Given the description of an element on the screen output the (x, y) to click on. 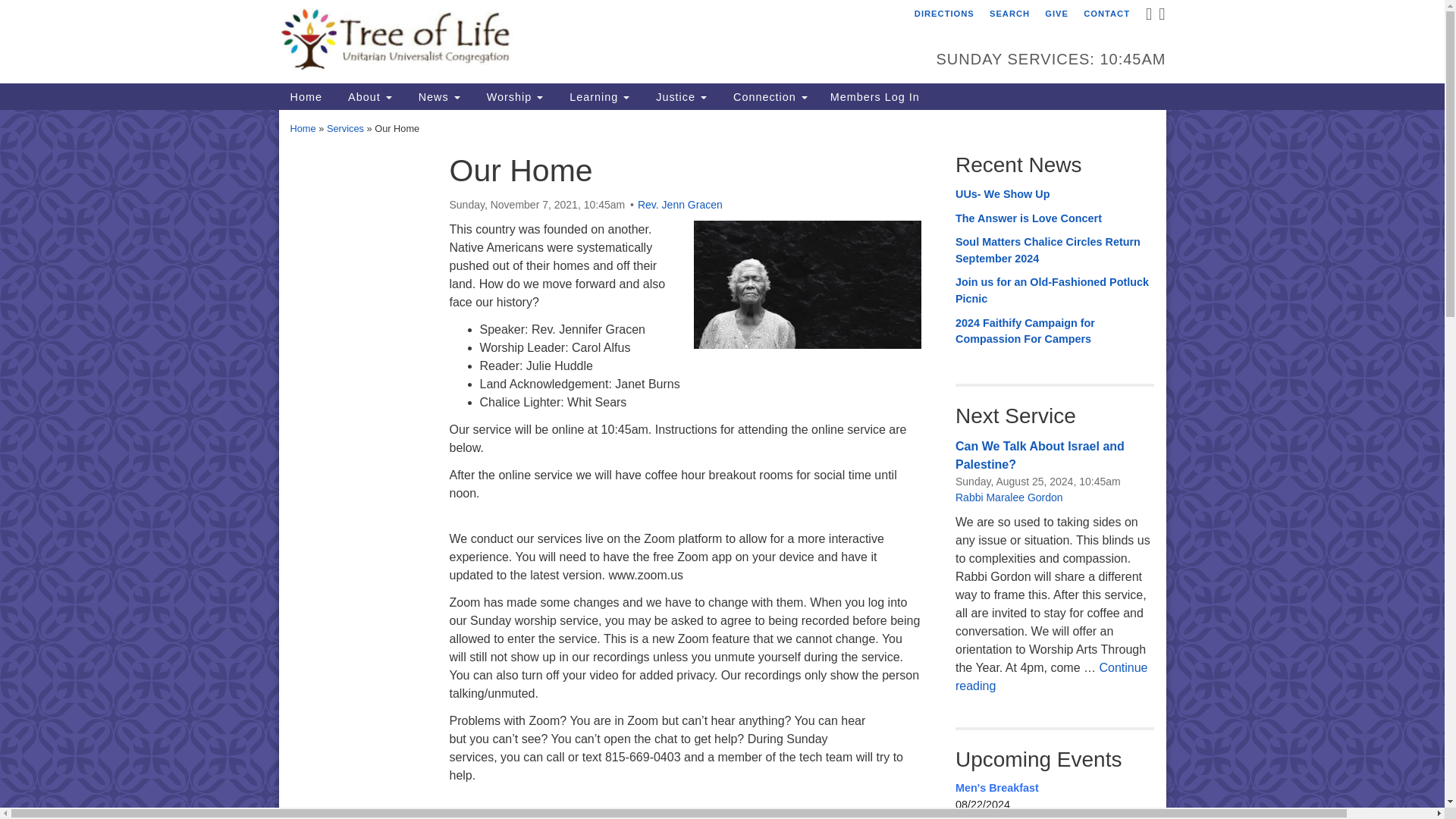
 Worship (512, 96)
 News (437, 96)
Home (306, 96)
GIVE (1056, 13)
 Learning (597, 96)
DIRECTIONS (943, 13)
Home (306, 96)
 About (368, 96)
TWITTER (1161, 16)
About (368, 96)
